Given the description of an element on the screen output the (x, y) to click on. 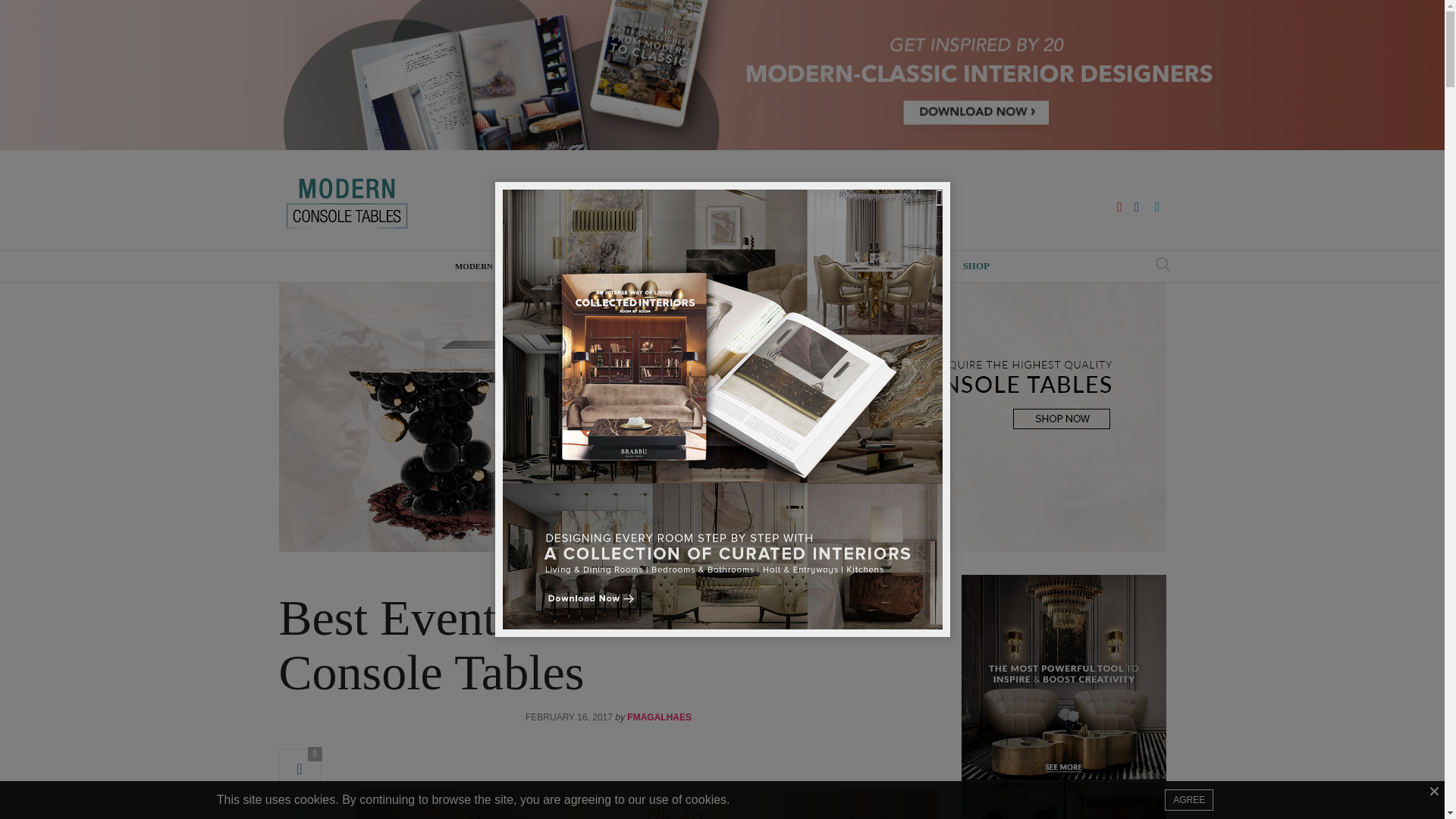
Posts by fmagalhaes (659, 716)
FMAGALHAES (659, 716)
EBOOKS (924, 265)
ROOMS INSPIRATION (840, 265)
0 (299, 768)
0 (299, 807)
LIVING ROOM IDEAS (727, 265)
CONSOLE TABLES (607, 578)
MODERN CONSOLE TABLES (512, 265)
Modern Console Tables (381, 202)
ENTRYWAY IDEAS (627, 265)
